Given the description of an element on the screen output the (x, y) to click on. 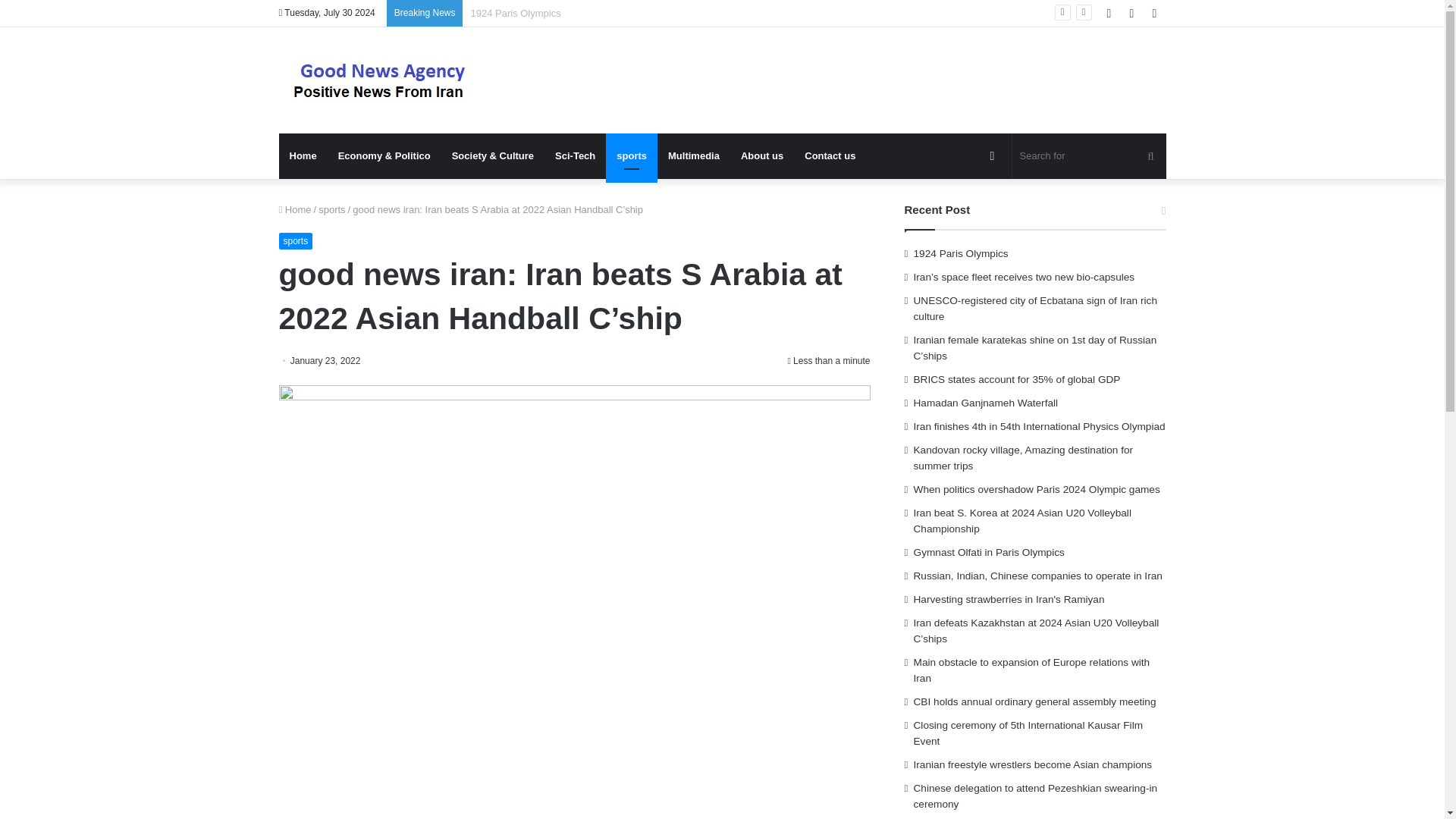
Sci-Tech (574, 156)
Multimedia (694, 156)
Search for (1088, 156)
About us (761, 156)
sports (331, 209)
sports (296, 240)
sports (631, 156)
1924 Paris Olympics (515, 12)
Home (295, 209)
good news agency (384, 80)
Contact us (829, 156)
Home (303, 156)
